Given the description of an element on the screen output the (x, y) to click on. 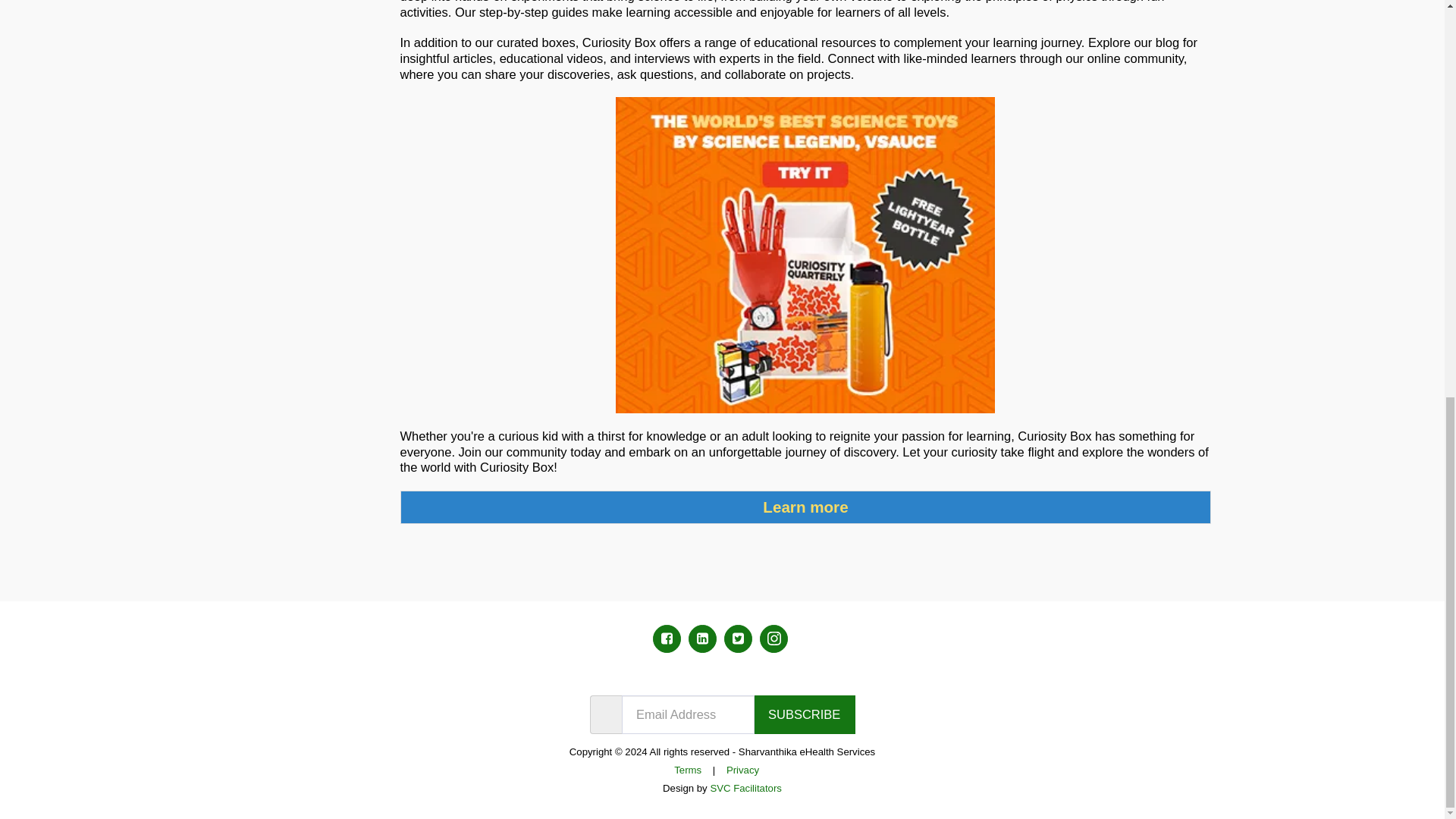
SUBSCRIBE (805, 714)
SVC Facilitators (745, 787)
Terms (687, 769)
Privacy (742, 769)
Learn more (804, 506)
